Given the description of an element on the screen output the (x, y) to click on. 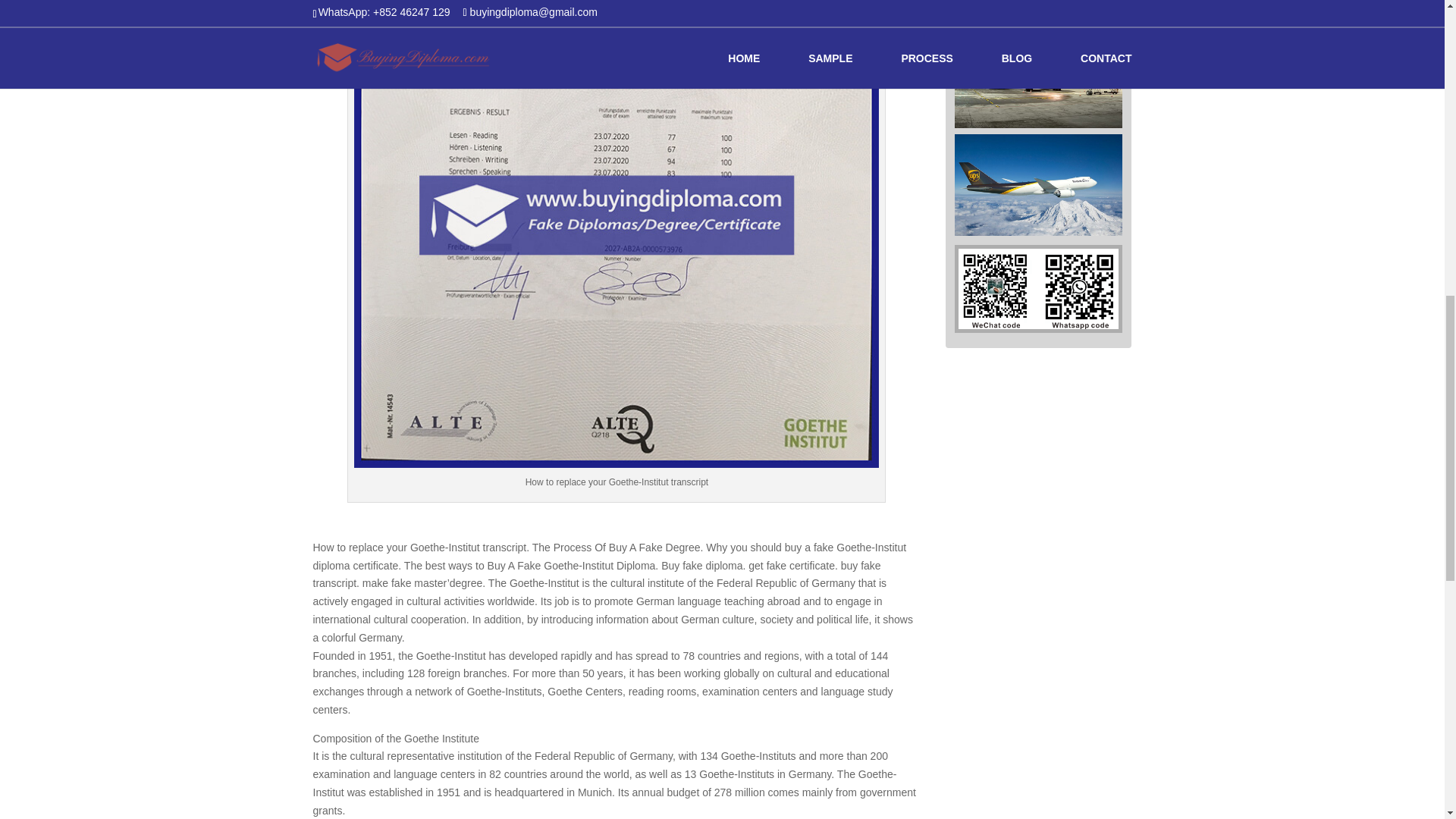
d110dcfc2a946e383fcf2c15564d892e (1038, 76)
2d3dbff73217d4c9ed7e7cf52a4072fb (1038, 184)
Wecha-code (1038, 288)
